Given the description of an element on the screen output the (x, y) to click on. 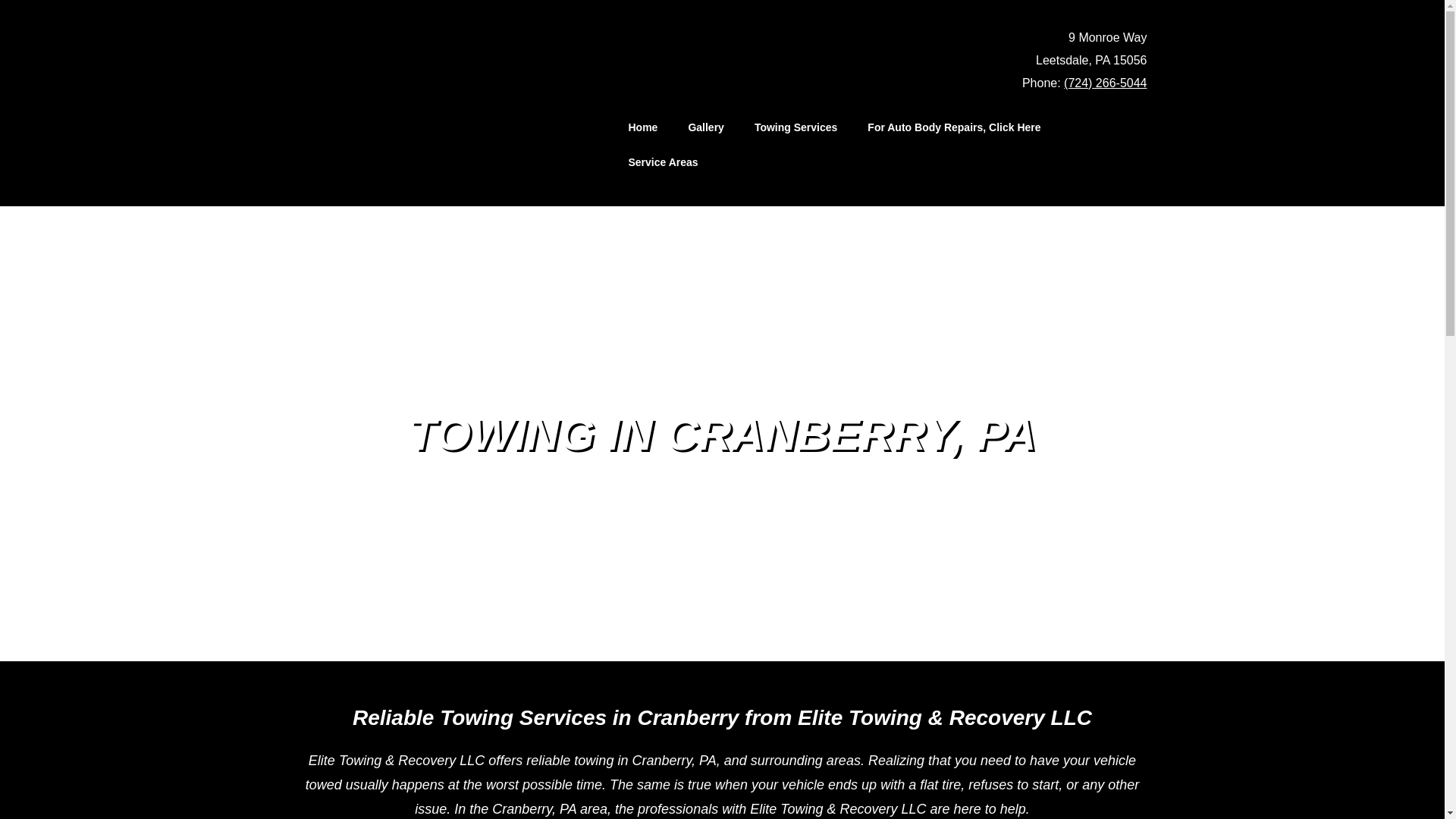
Gallery (705, 126)
Towing Services (795, 126)
Service Areas (662, 161)
Home (642, 126)
For Auto Body Repairs, Click Here (953, 126)
